Given the description of an element on the screen output the (x, y) to click on. 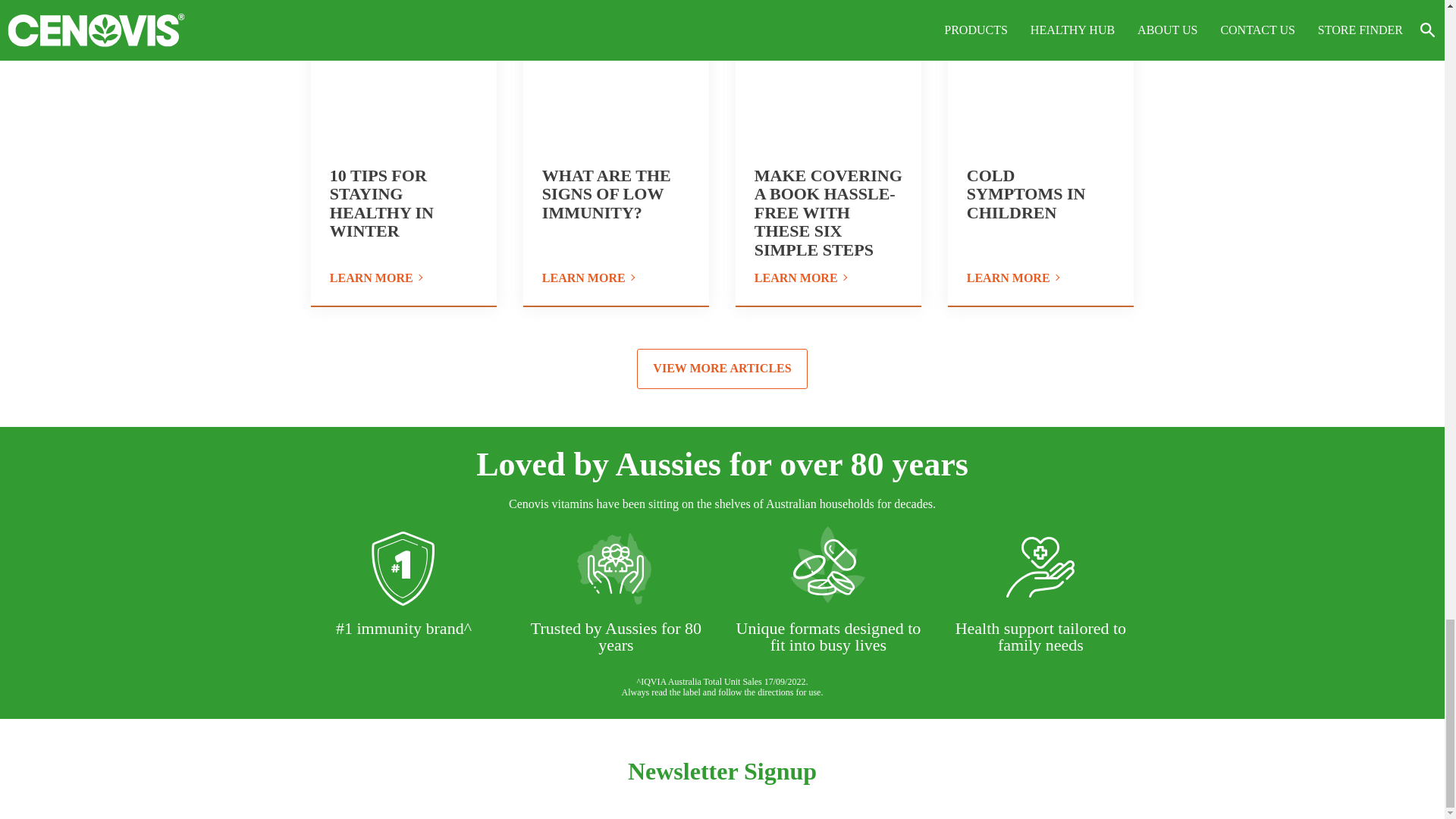
10 TIPS FOR STAYING HEALTHY IN WINTER (381, 203)
View more articles (721, 368)
learn more (403, 278)
WHAT ARE THE SIGNS OF LOW IMMUNITY? (606, 193)
learn more (1040, 278)
learn more (615, 278)
learn more (828, 278)
LEARN MORE (403, 278)
